Given the description of an element on the screen output the (x, y) to click on. 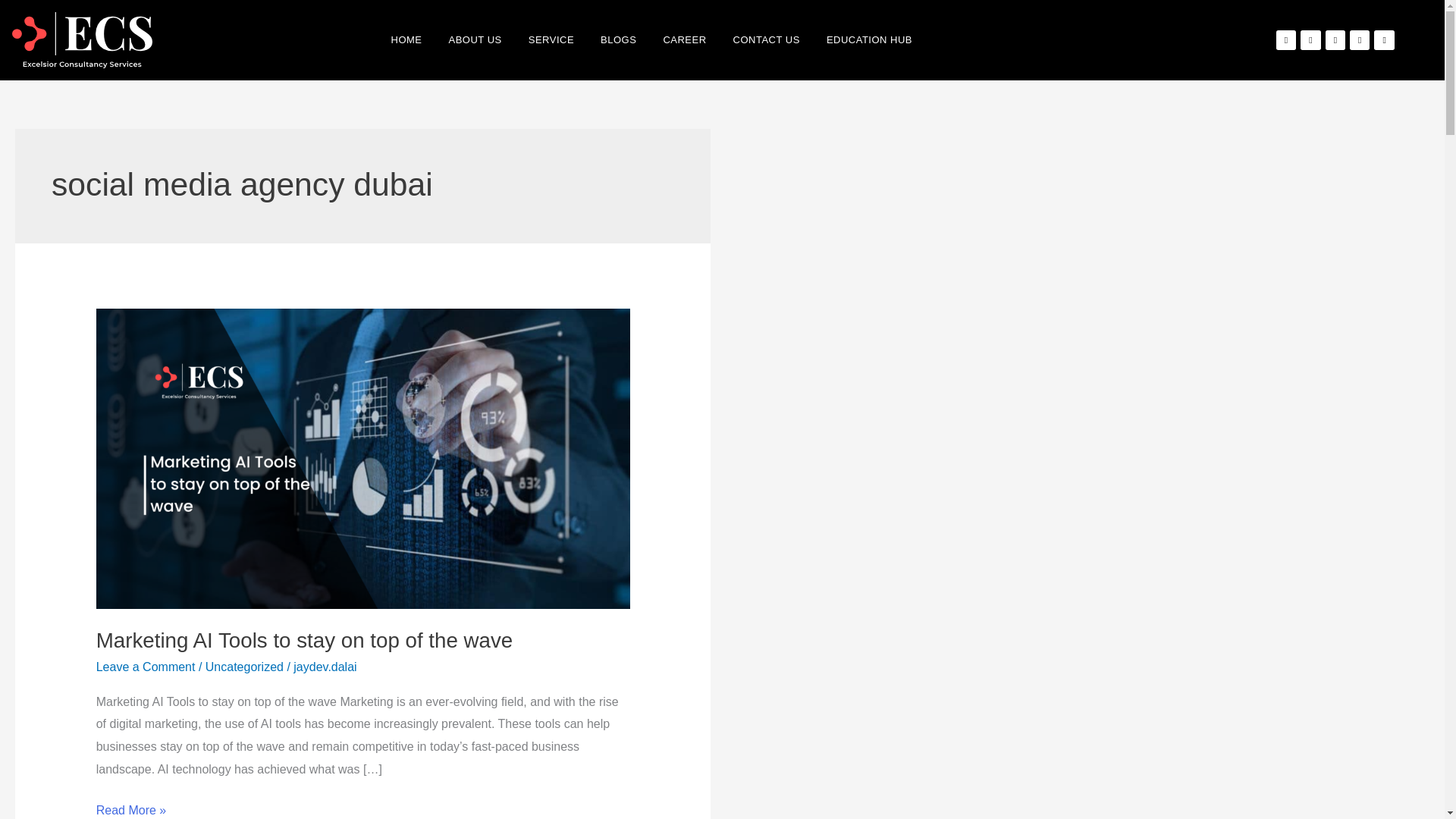
BLOGS (617, 40)
Instagram (1334, 39)
EDUCATION HUB (869, 40)
Uncategorized (244, 666)
Youtube (1383, 39)
Marketing AI Tools to stay on top of the wave (304, 639)
Linkedin (1359, 39)
Leave a Comment (145, 666)
SERVICE (550, 40)
CONTACT US (766, 40)
